Given the description of an element on the screen output the (x, y) to click on. 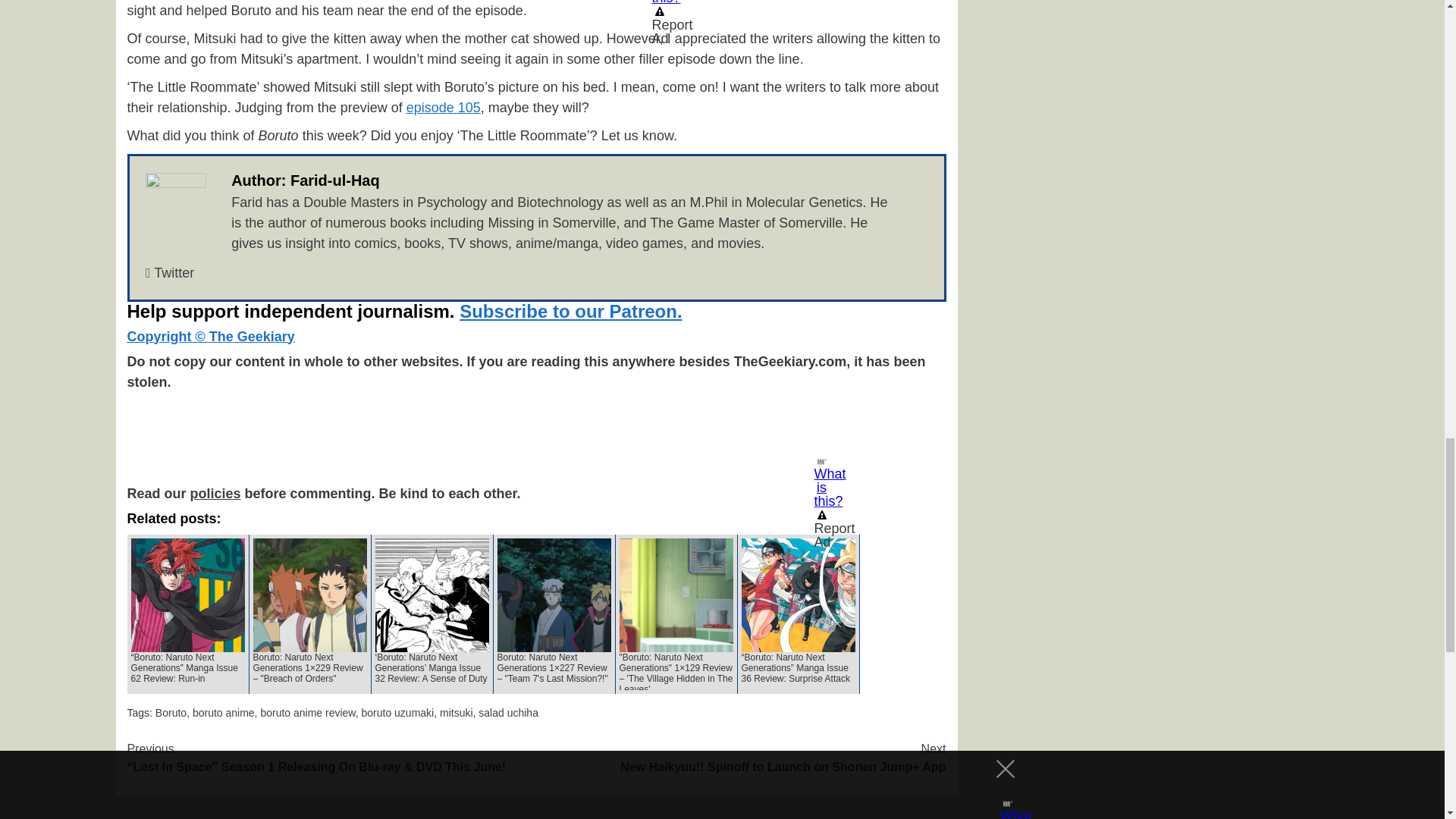
3rd party ad content (536, 434)
